Given the description of an element on the screen output the (x, y) to click on. 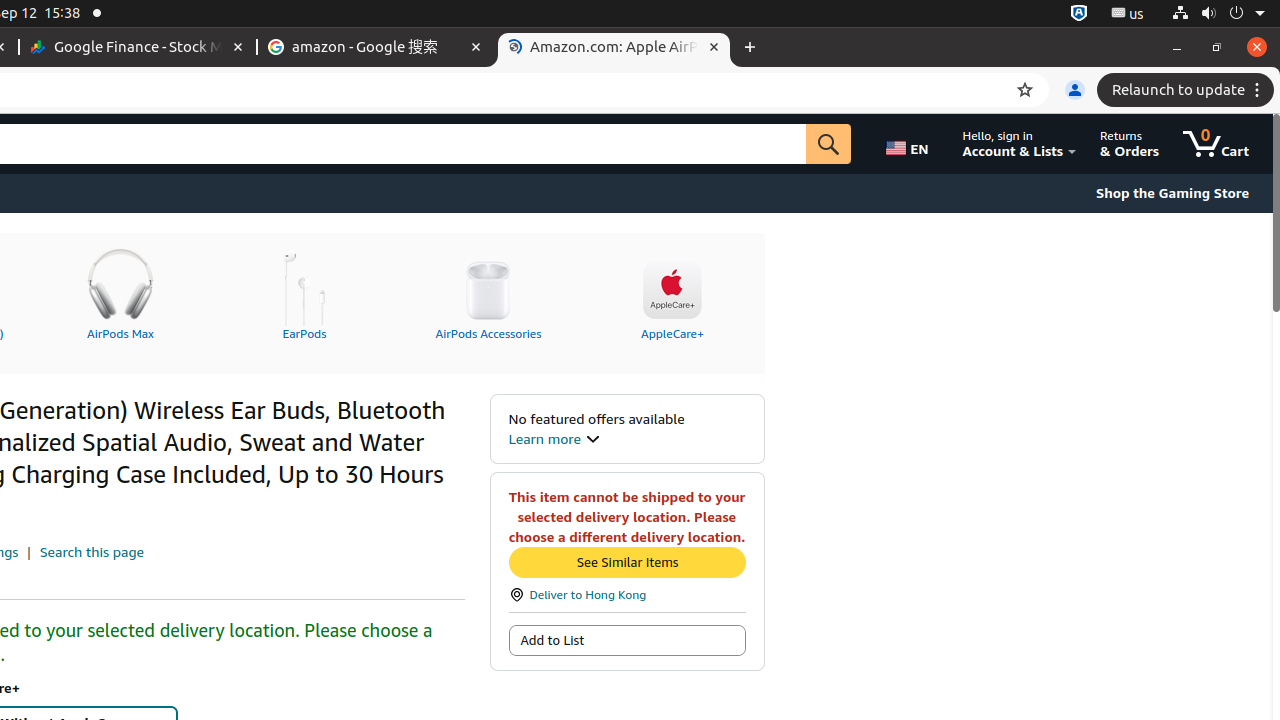
EarPods Element type: link (304, 291)
Deliver to Hong Kong Element type: link (627, 594)
Learn more Element type: push-button (554, 438)
Hello, sign in Account & Lists Element type: link (1019, 144)
Bookmark this tab Element type: push-button (1025, 90)
